Given the description of an element on the screen output the (x, y) to click on. 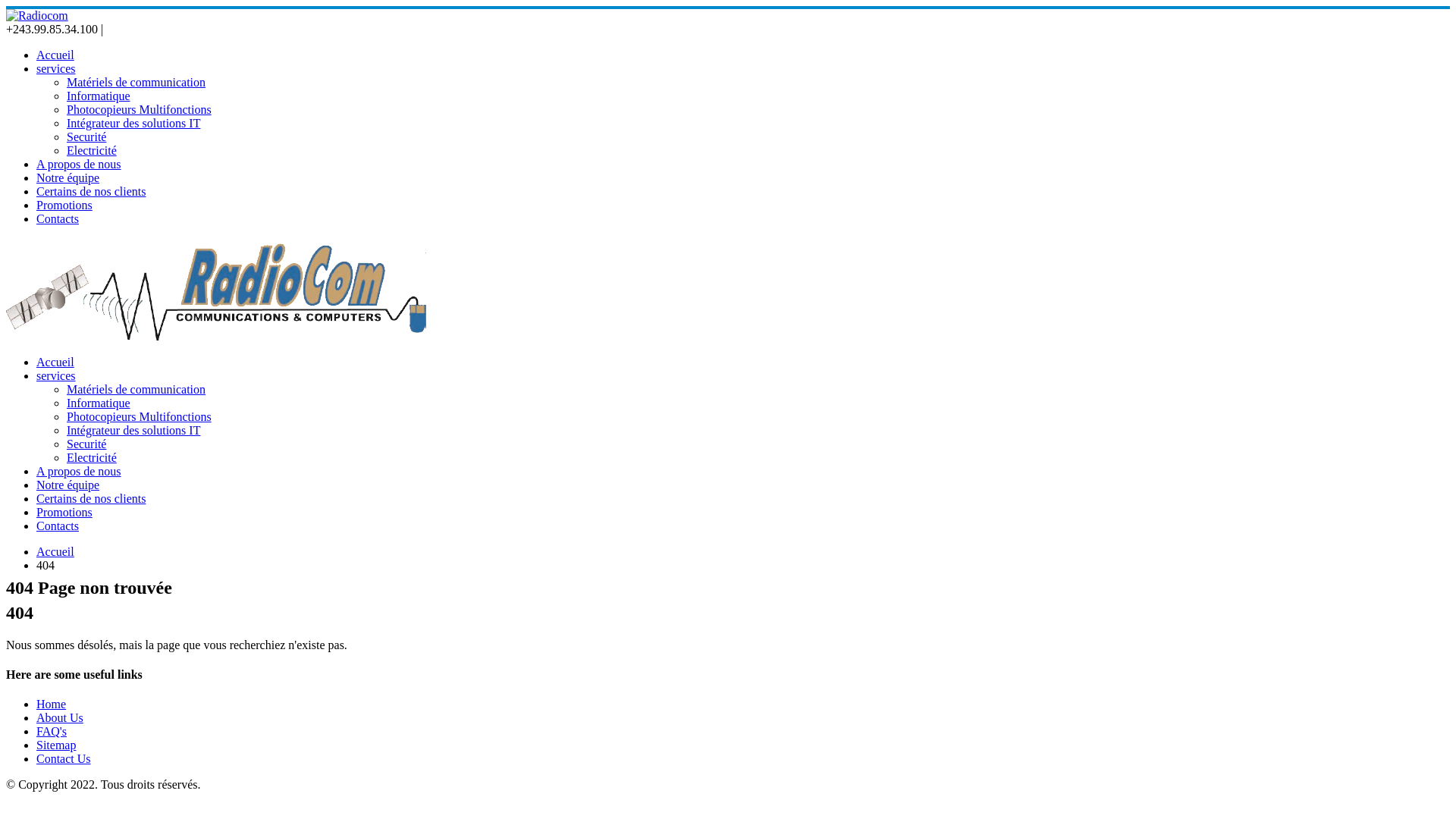
About Us Element type: text (59, 717)
Radiocom - Communications & Computers Element type: hover (218, 335)
Contacts Element type: text (57, 218)
Photocopieurs Multifonctions Element type: text (138, 109)
Contact Us Element type: text (63, 758)
Informatique Element type: text (98, 95)
services Element type: text (55, 68)
Contacts Element type: text (57, 525)
Radiocom - Communications & Computers Element type: hover (37, 15)
Promotions Element type: text (64, 204)
Photocopieurs Multifonctions Element type: text (138, 416)
FAQ's Element type: text (51, 730)
Accueil Element type: text (55, 361)
Promotions Element type: text (64, 511)
Sitemap Element type: text (55, 744)
Informatique Element type: text (98, 402)
Accueil Element type: text (55, 551)
Accueil Element type: text (55, 54)
Certains de nos clients Element type: text (90, 191)
Home Element type: text (50, 703)
A propos de nous Element type: text (78, 163)
services Element type: text (55, 375)
A propos de nous Element type: text (78, 470)
Certains de nos clients Element type: text (90, 498)
